Given the description of an element on the screen output the (x, y) to click on. 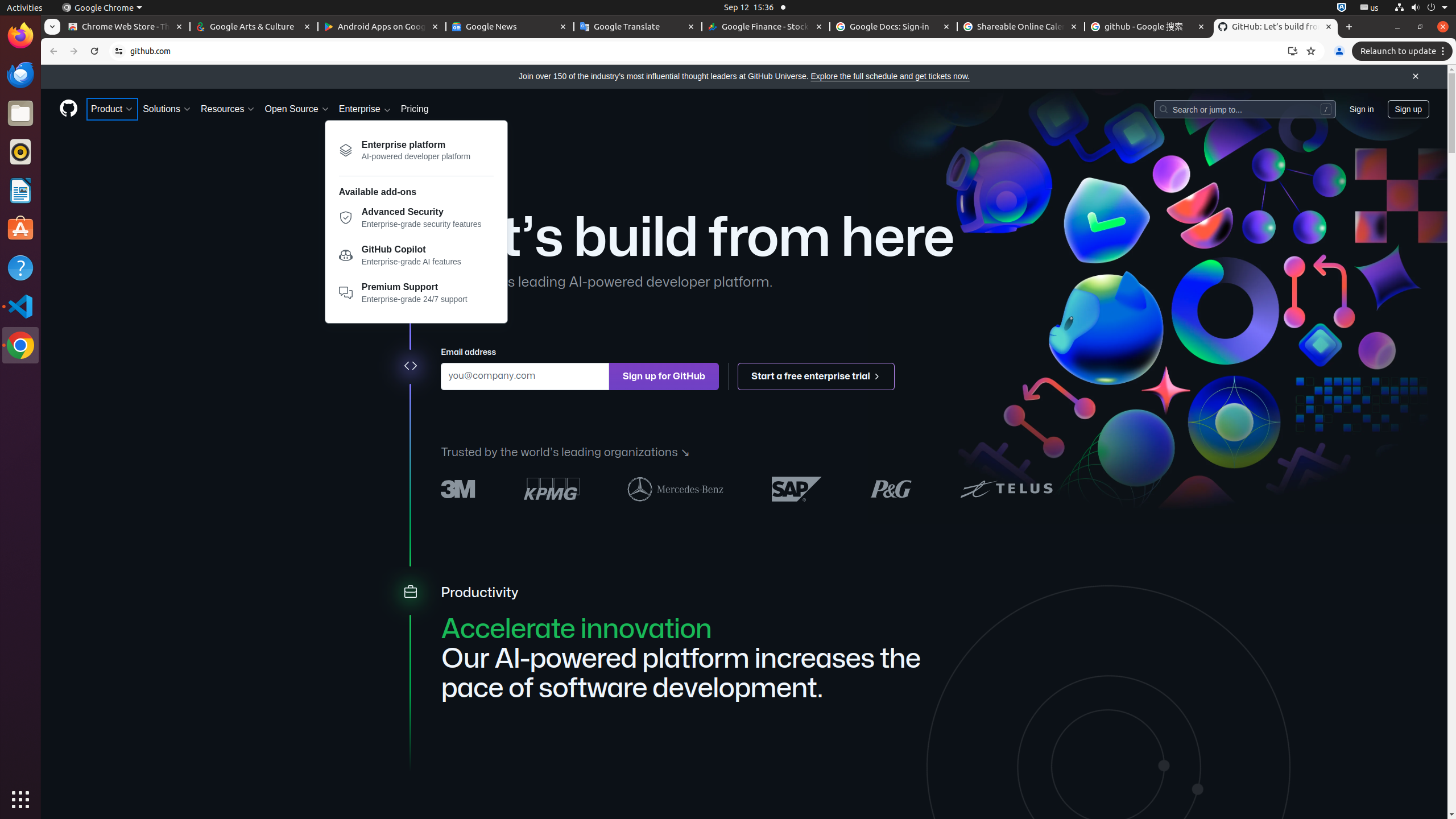
Bookmark this tab Element type: push-button (1310, 51)
Enterprise platform AI-powered developer platform Element type: link (415, 150)
Install GitHub Element type: push-button (1292, 51)
Sign up Element type: link (1408, 108)
Google News - Memory usage - 51.2 MB Element type: page-tab (509, 26)
